Given the description of an element on the screen output the (x, y) to click on. 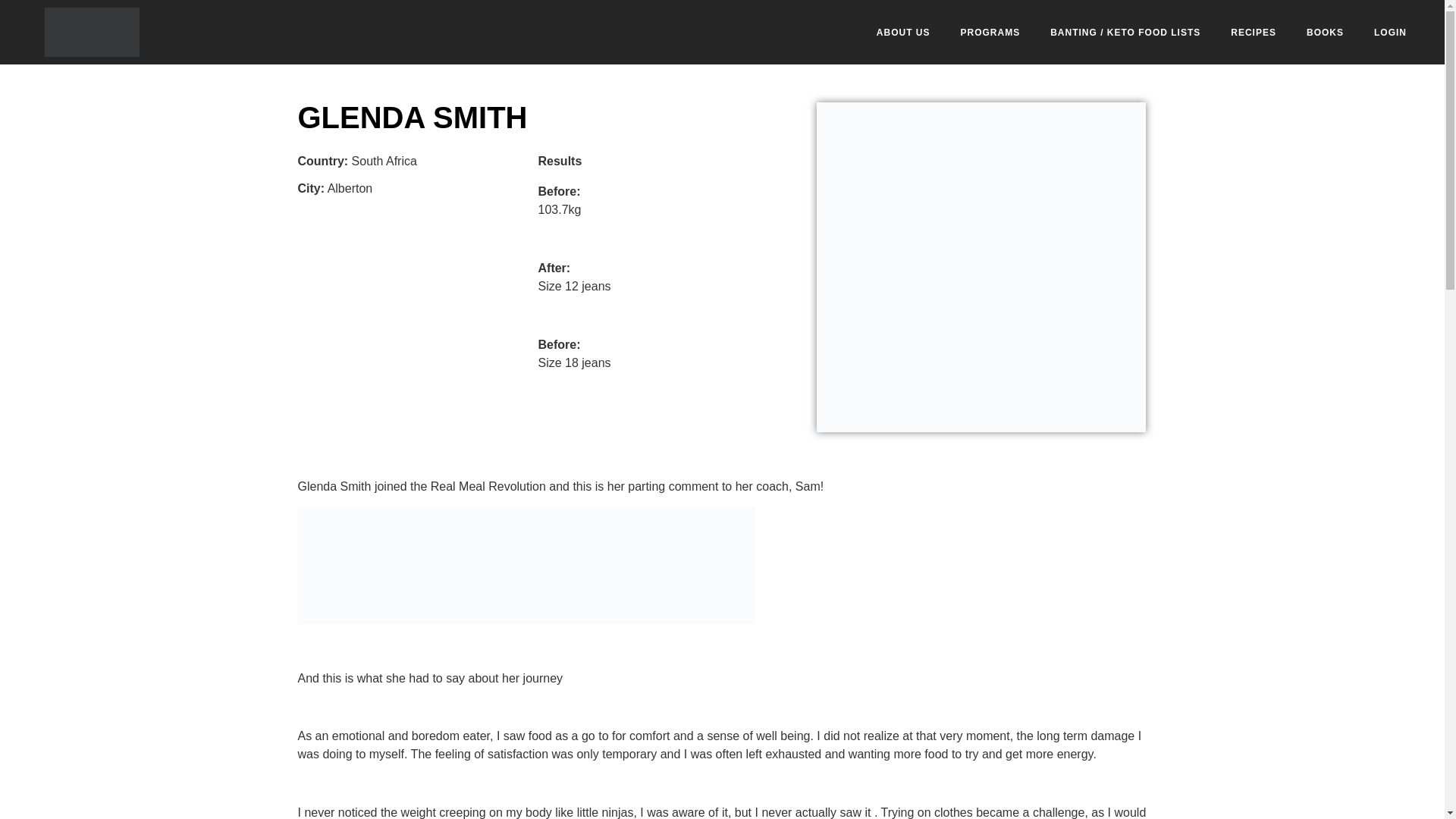
PROGRAMS (989, 32)
BOOKS (1324, 32)
LOGIN (1390, 32)
RECIPES (1253, 32)
ABOUT US (902, 32)
